Given the description of an element on the screen output the (x, y) to click on. 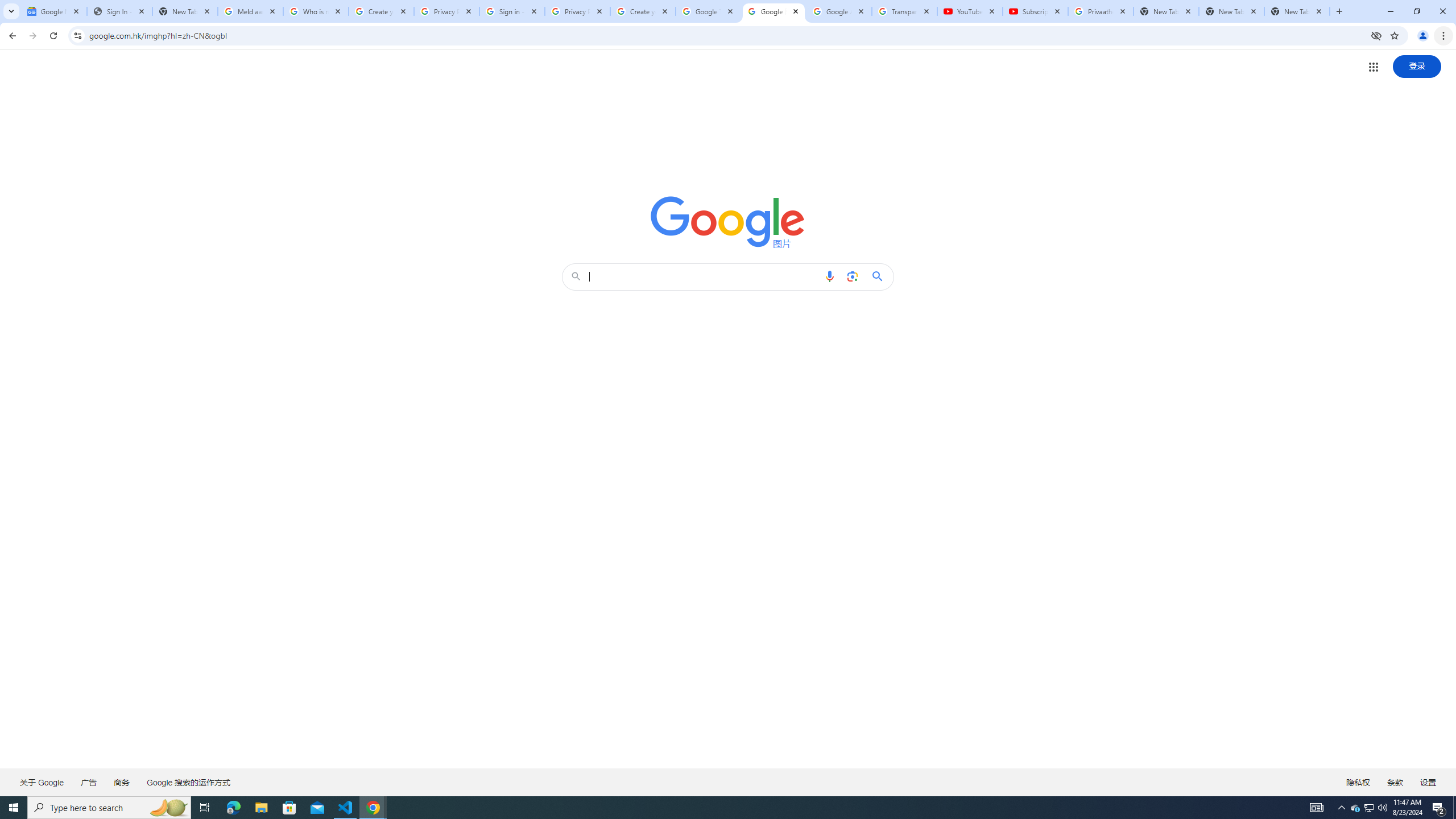
Who is my administrator? - Google Account Help (315, 11)
